Given the description of an element on the screen output the (x, y) to click on. 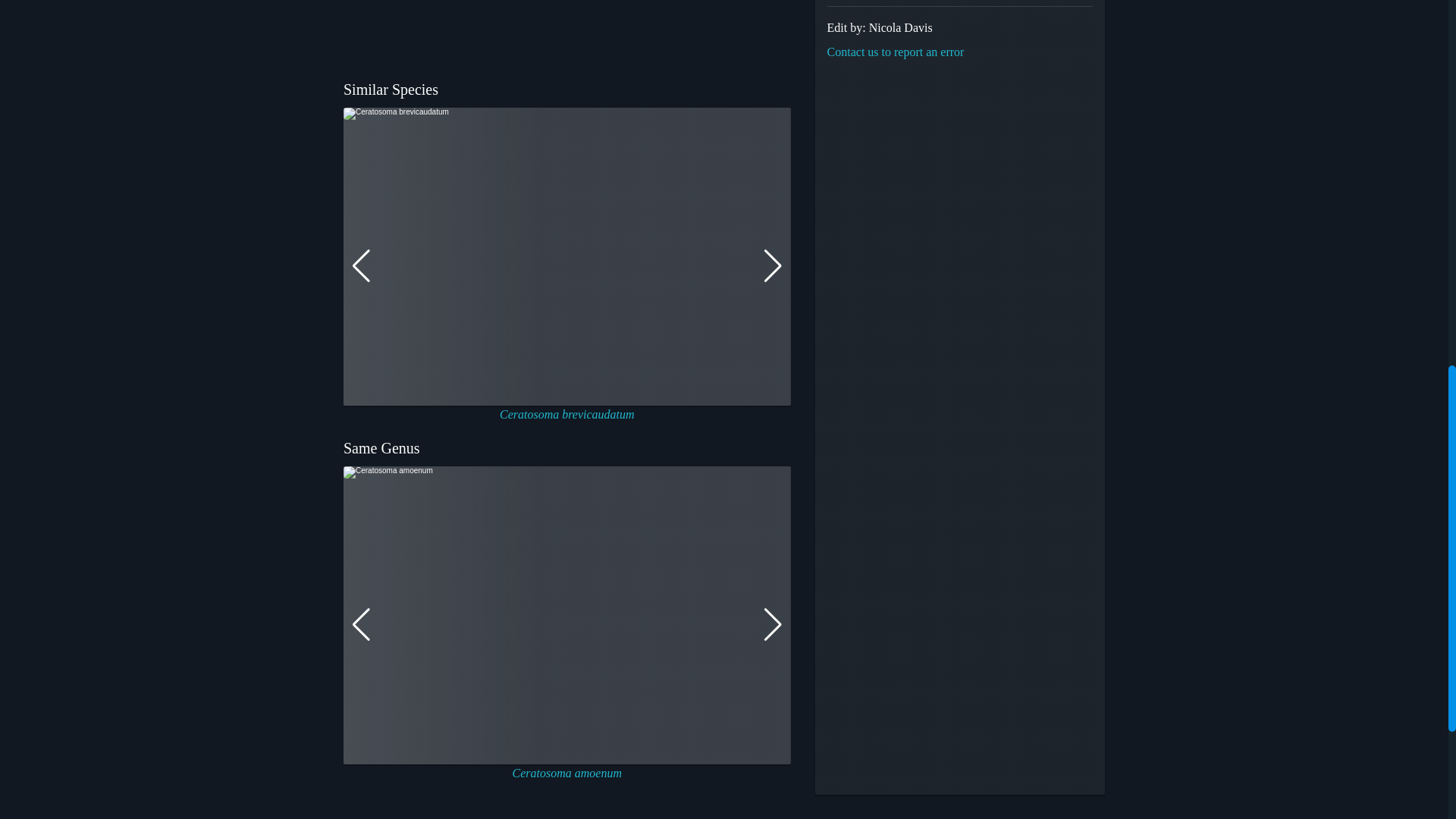
Contact us to report an error (895, 51)
Ceratosoma brevicaudatum (566, 413)
Ceratosoma amoenum (566, 772)
